Given the description of an element on the screen output the (x, y) to click on. 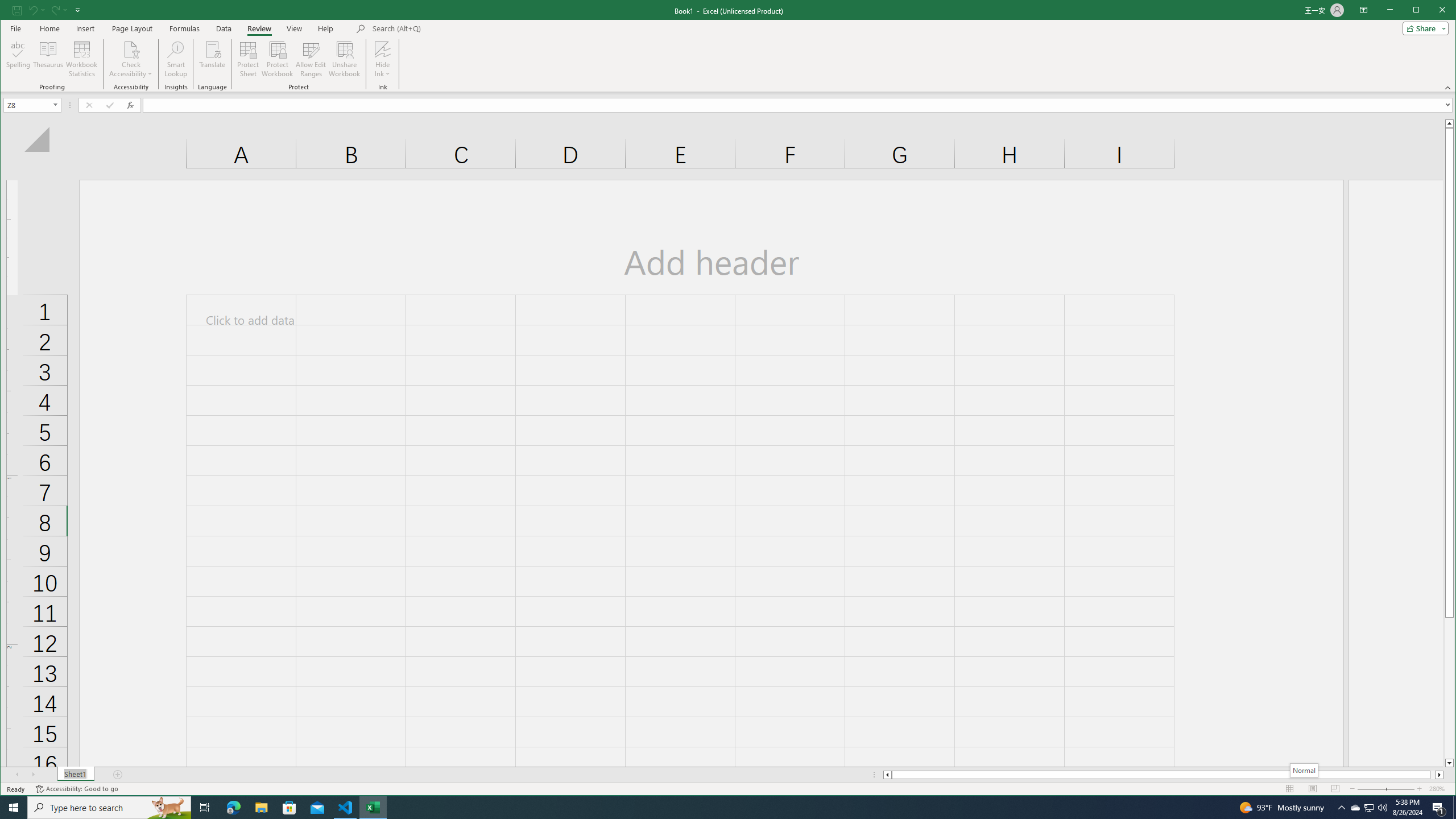
Scroll Left (18, 774)
Formulas (184, 28)
Running applications (1368, 807)
Page down (717, 807)
Data (1449, 687)
Type here to search (223, 28)
Zoom Out (108, 807)
Hide Ink (1378, 788)
Search highlights icon opens search home window (382, 48)
Check Accessibility (167, 807)
